Given the description of an element on the screen output the (x, y) to click on. 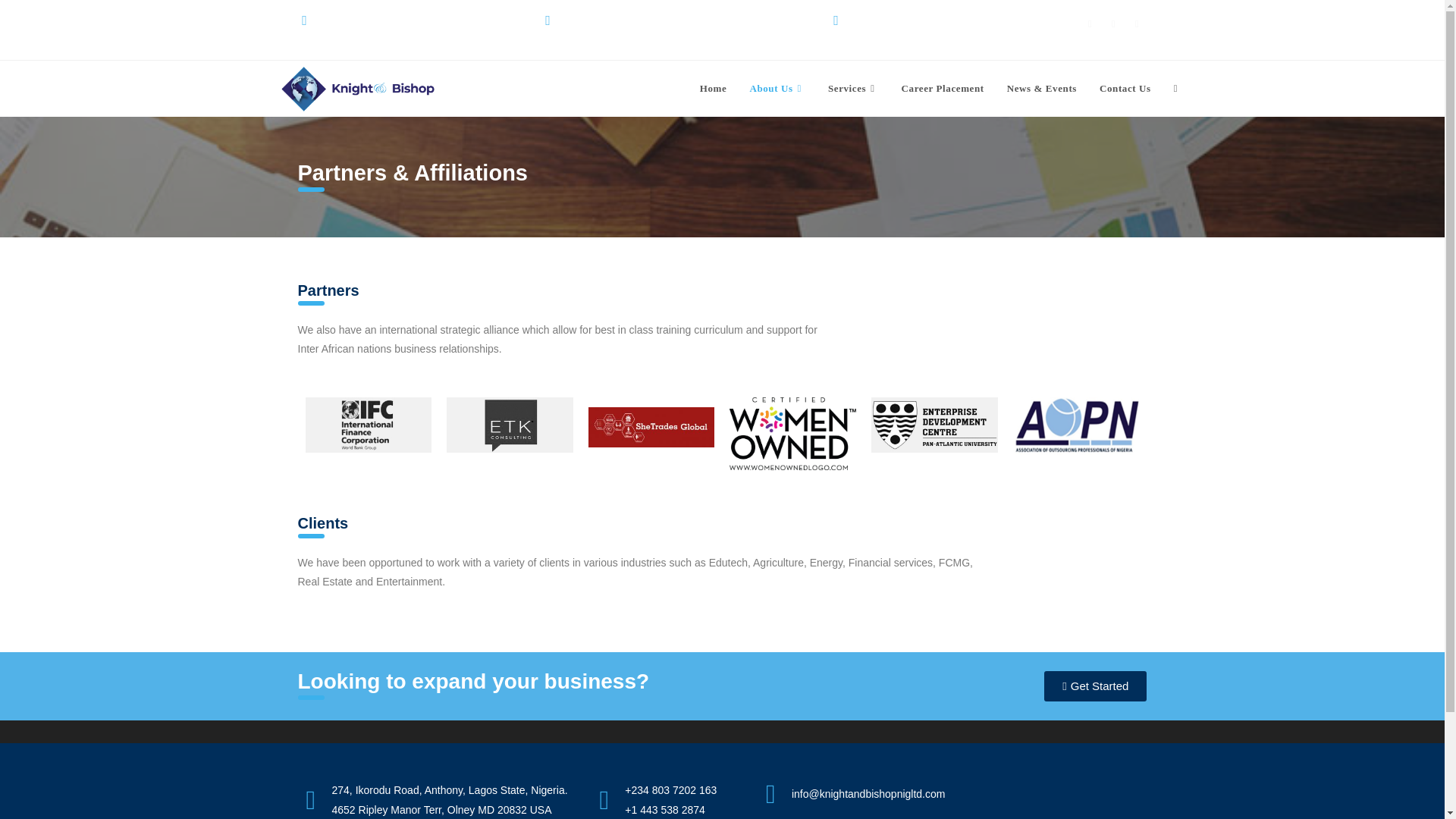
Get Started (1095, 685)
Contact Us (1124, 88)
About Us (777, 88)
Home (713, 88)
Career Placement (942, 88)
Services (852, 88)
